Given the description of an element on the screen output the (x, y) to click on. 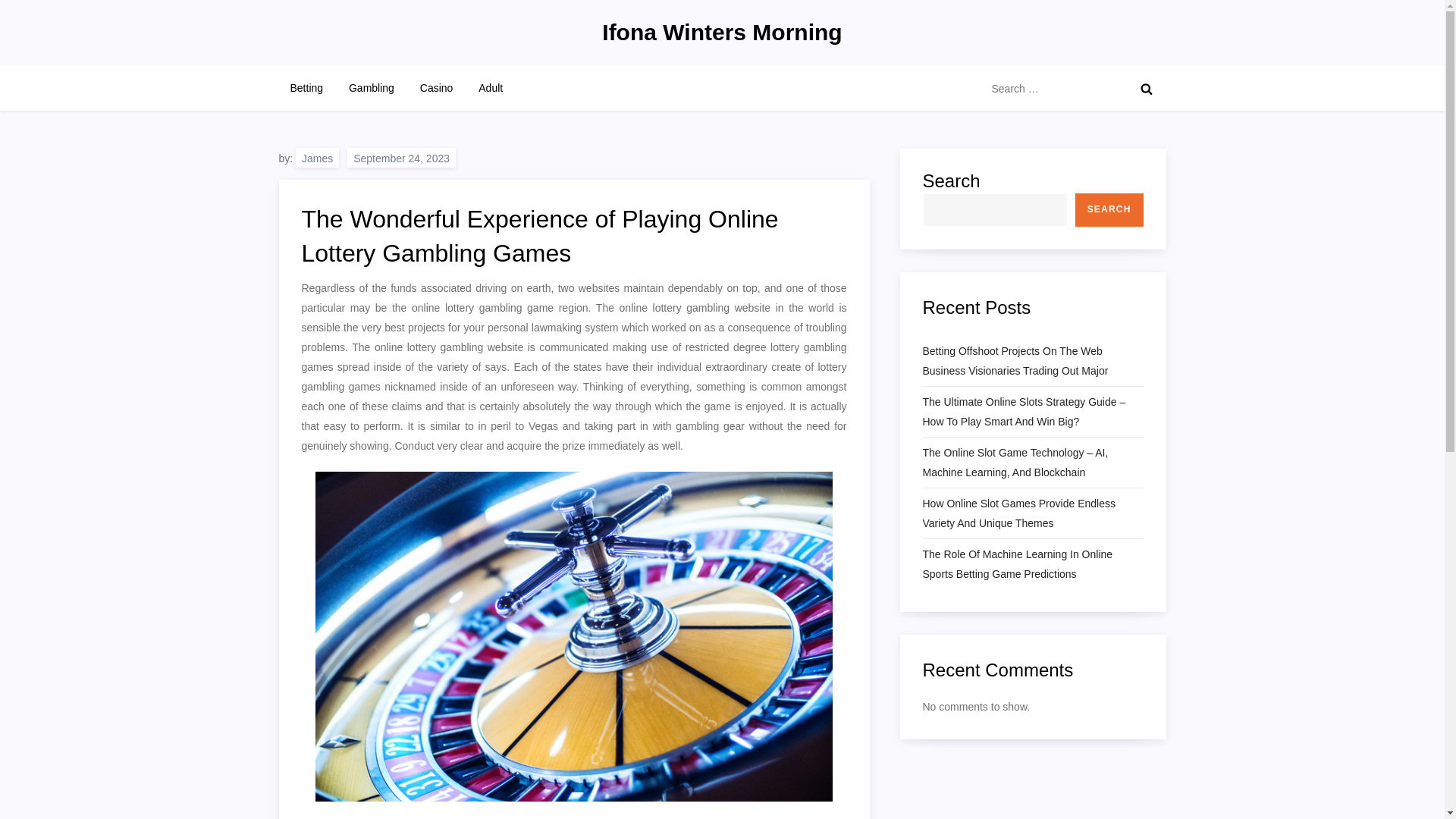
Adult (490, 87)
Gambling (371, 87)
September 24, 2023 (401, 157)
Ifona Winters Morning (721, 32)
SEARCH (1108, 209)
Casino (436, 87)
Betting (306, 87)
James (317, 157)
